Given the description of an element on the screen output the (x, y) to click on. 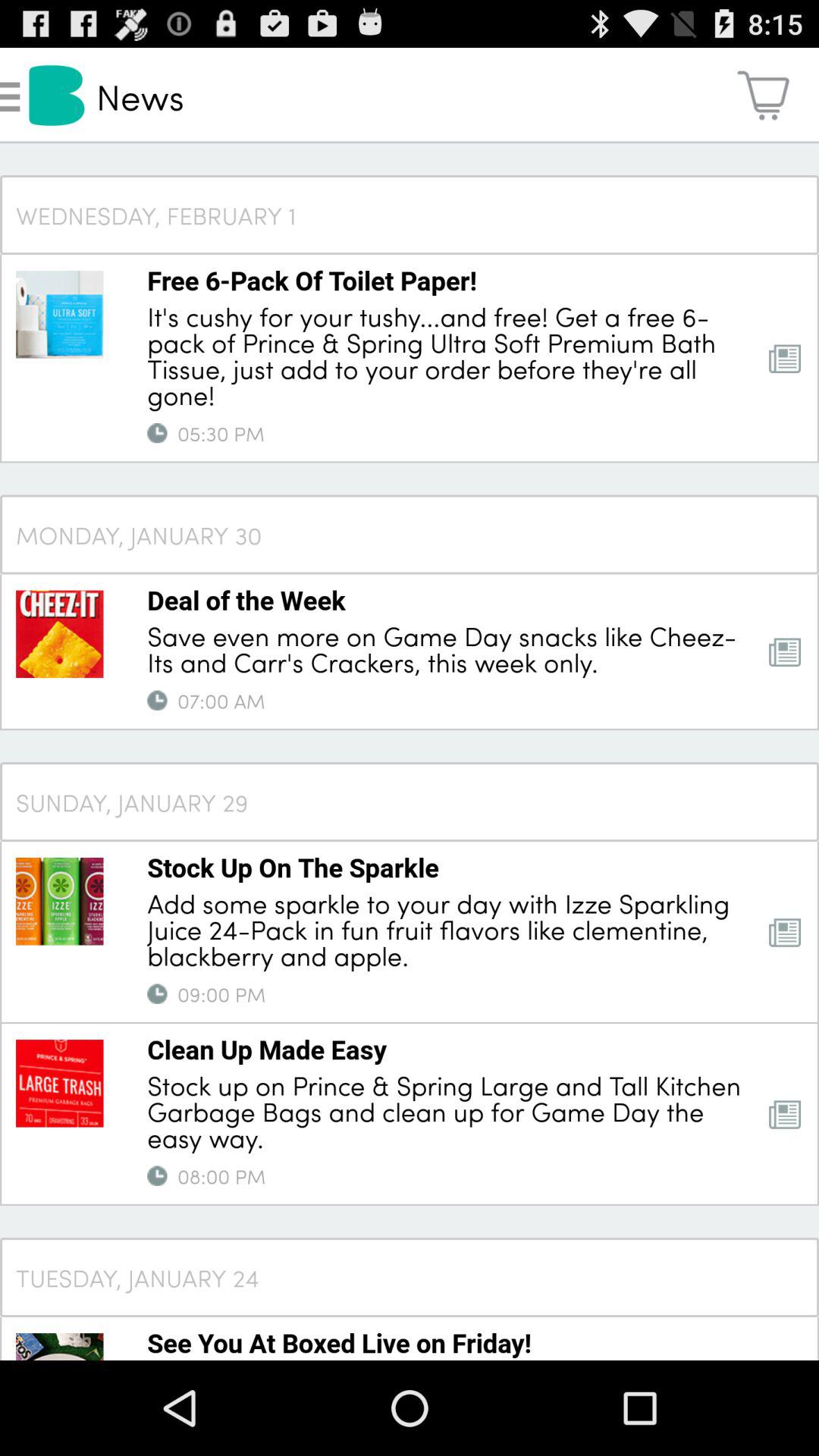
flip to wednesday, february 1 item (409, 214)
